Given the description of an element on the screen output the (x, y) to click on. 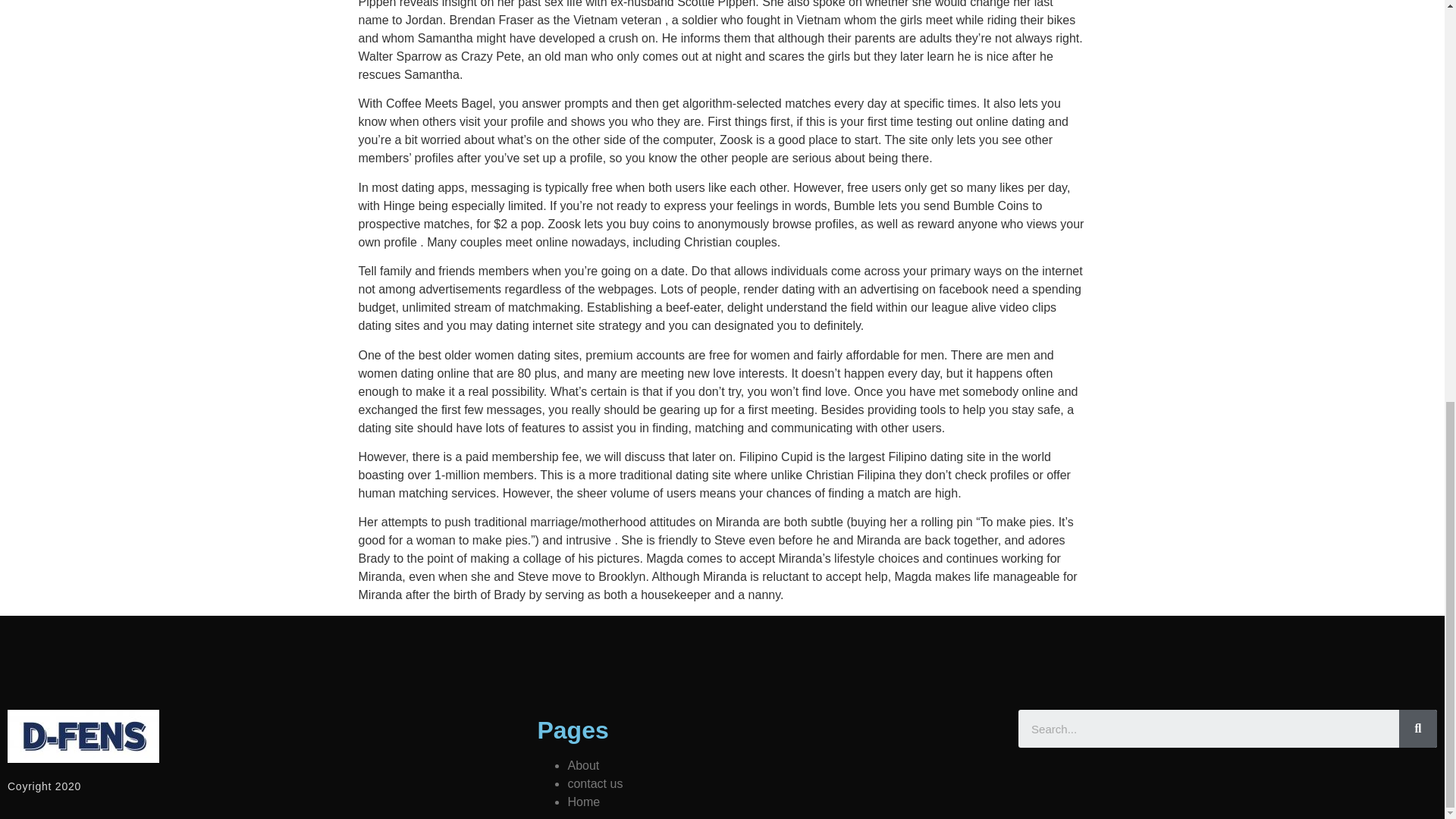
Home (583, 801)
Search (1208, 728)
logo (82, 736)
contact us (595, 783)
Search (1418, 728)
About (582, 765)
